Given the description of an element on the screen output the (x, y) to click on. 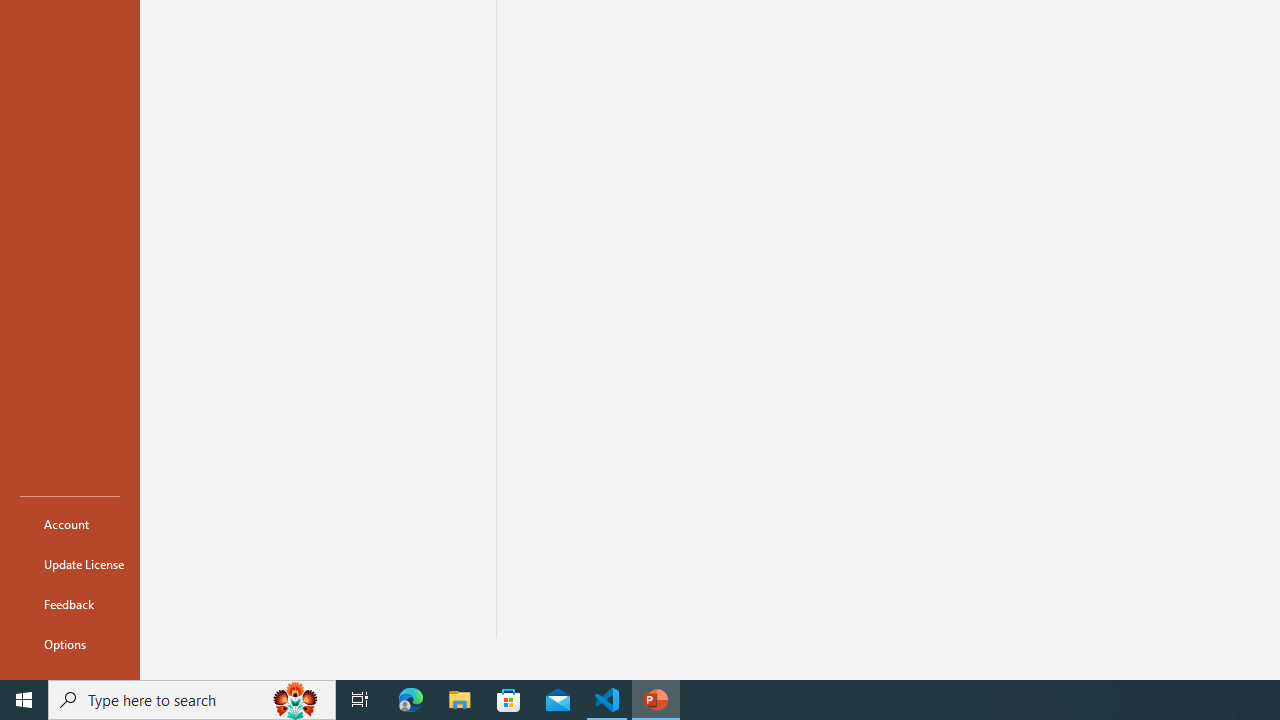
Account (69, 523)
Feedback (69, 603)
Update License (69, 563)
Options (69, 643)
